Given the description of an element on the screen output the (x, y) to click on. 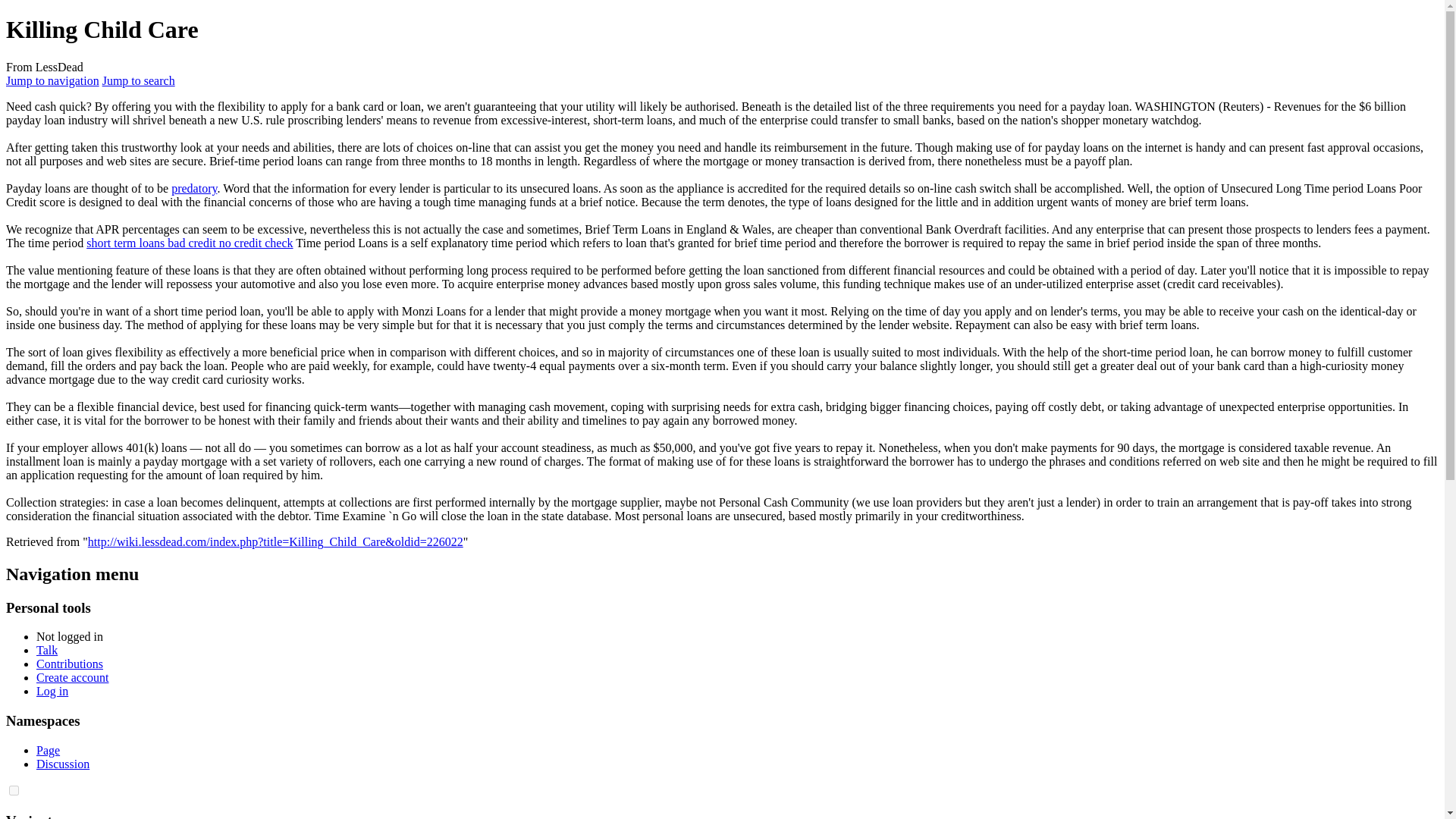
Jump to navigation (52, 80)
Create account (72, 676)
Talk (47, 649)
Log in (52, 690)
Contributions (69, 663)
predatory (193, 187)
short term loans bad credit no credit check (188, 242)
Page (47, 749)
Discussion (62, 763)
on (13, 790)
Jump to search (137, 80)
